Given the description of an element on the screen output the (x, y) to click on. 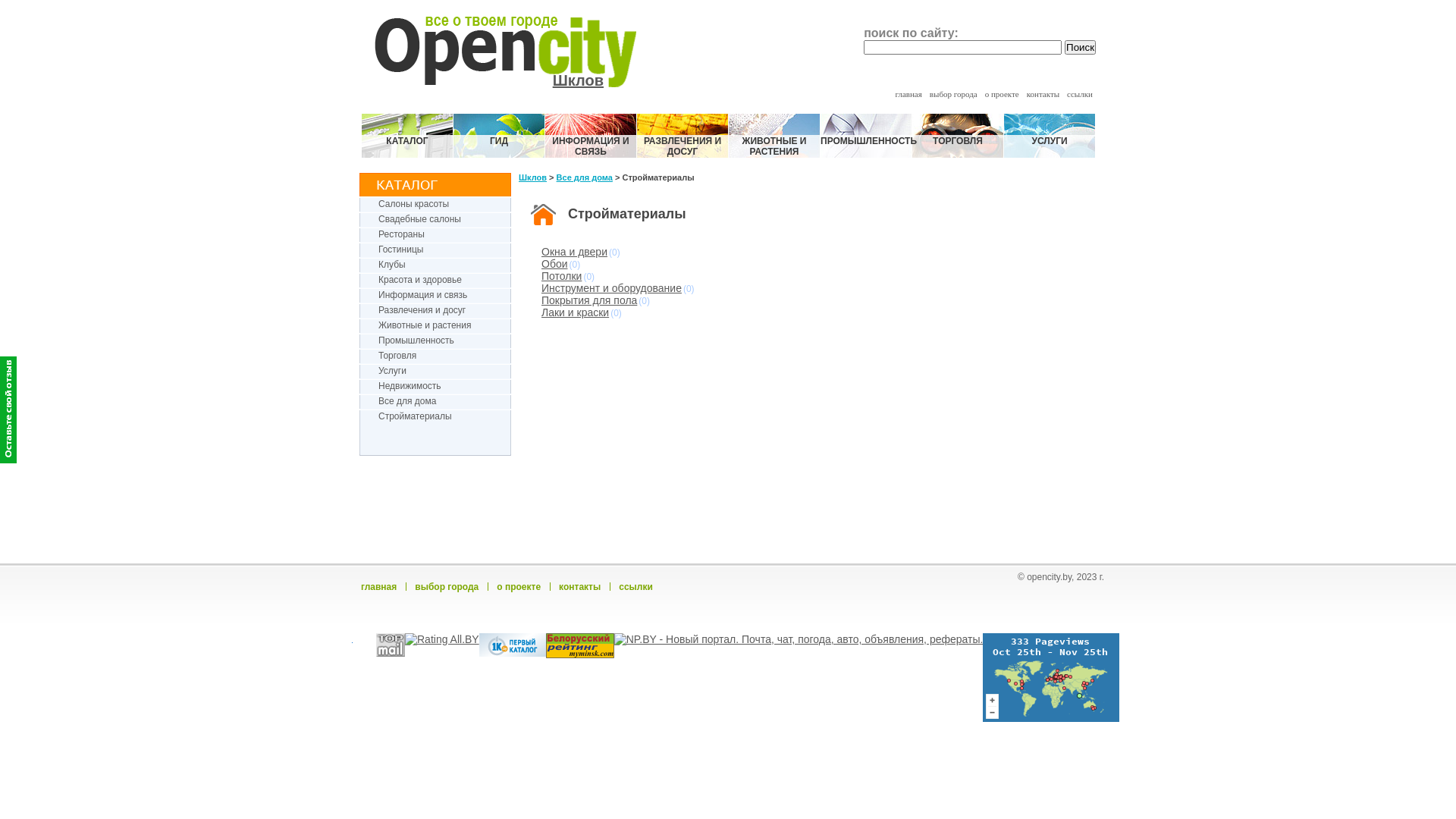
OPEN CITY Element type: text (523, 41)
LiveInternet Element type: hover (364, 644)
Locations of visitors to this page Element type: hover (1050, 677)
